Given the description of an element on the screen output the (x, y) to click on. 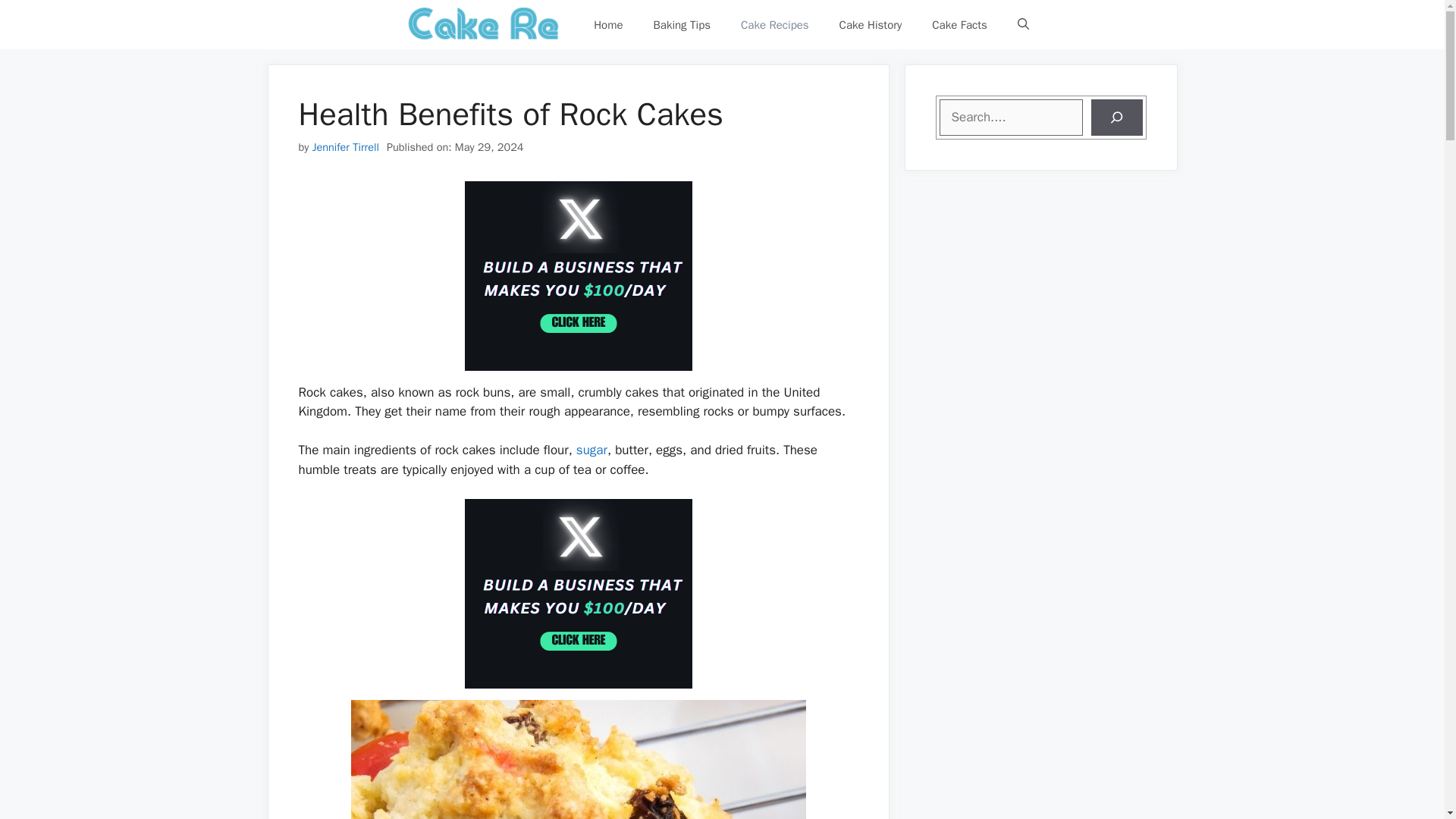
Cake Facts (960, 23)
Jennifer Tirrell (345, 146)
Cake History (870, 23)
Baking Tips (682, 23)
Cake Recipes (774, 23)
CakeRe (485, 24)
Home (607, 23)
View all posts by Jennifer Tirrell (345, 146)
sugar (591, 449)
